Given the description of an element on the screen output the (x, y) to click on. 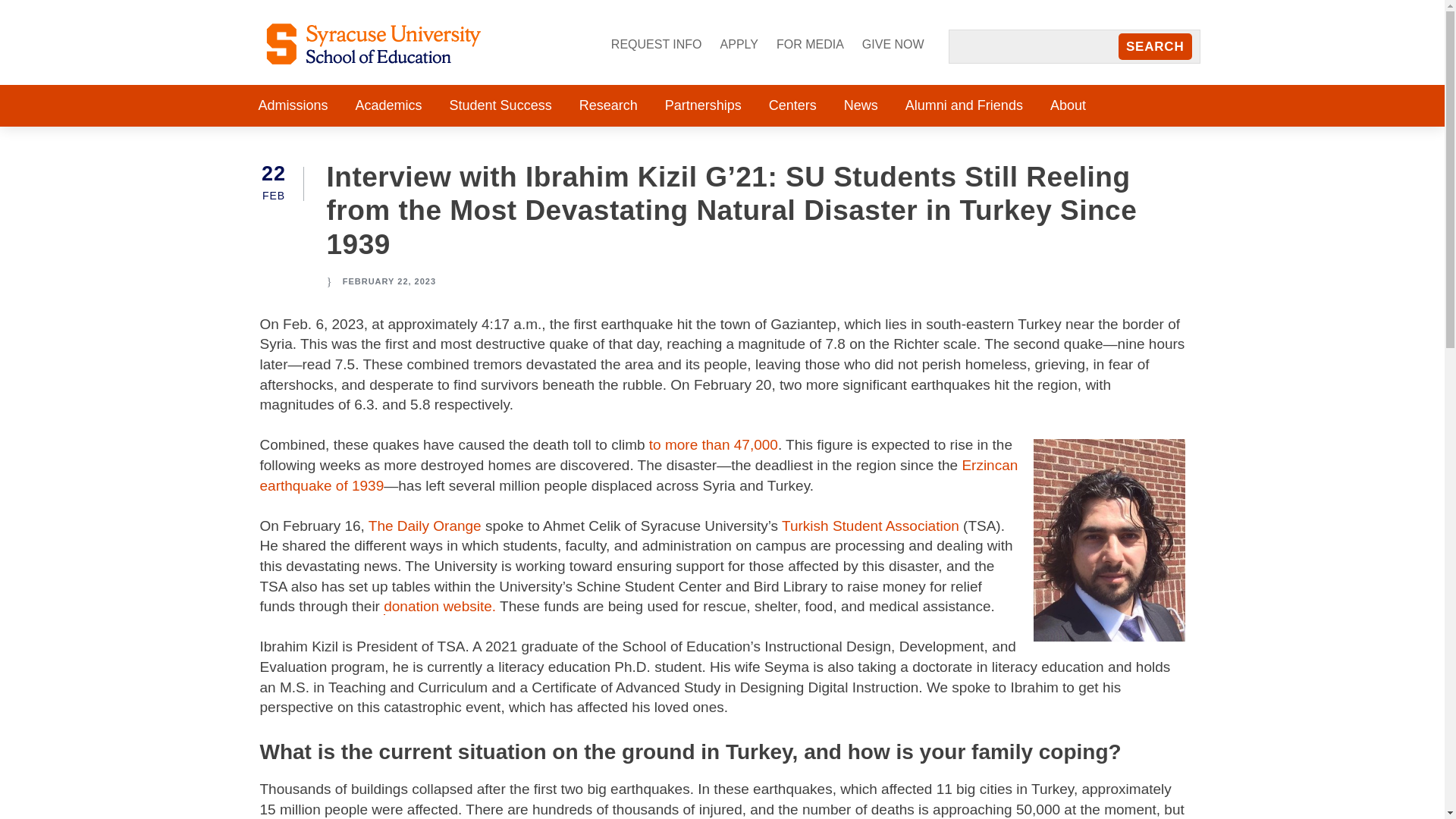
Search (1155, 46)
Search (1155, 46)
